Given the description of an element on the screen output the (x, y) to click on. 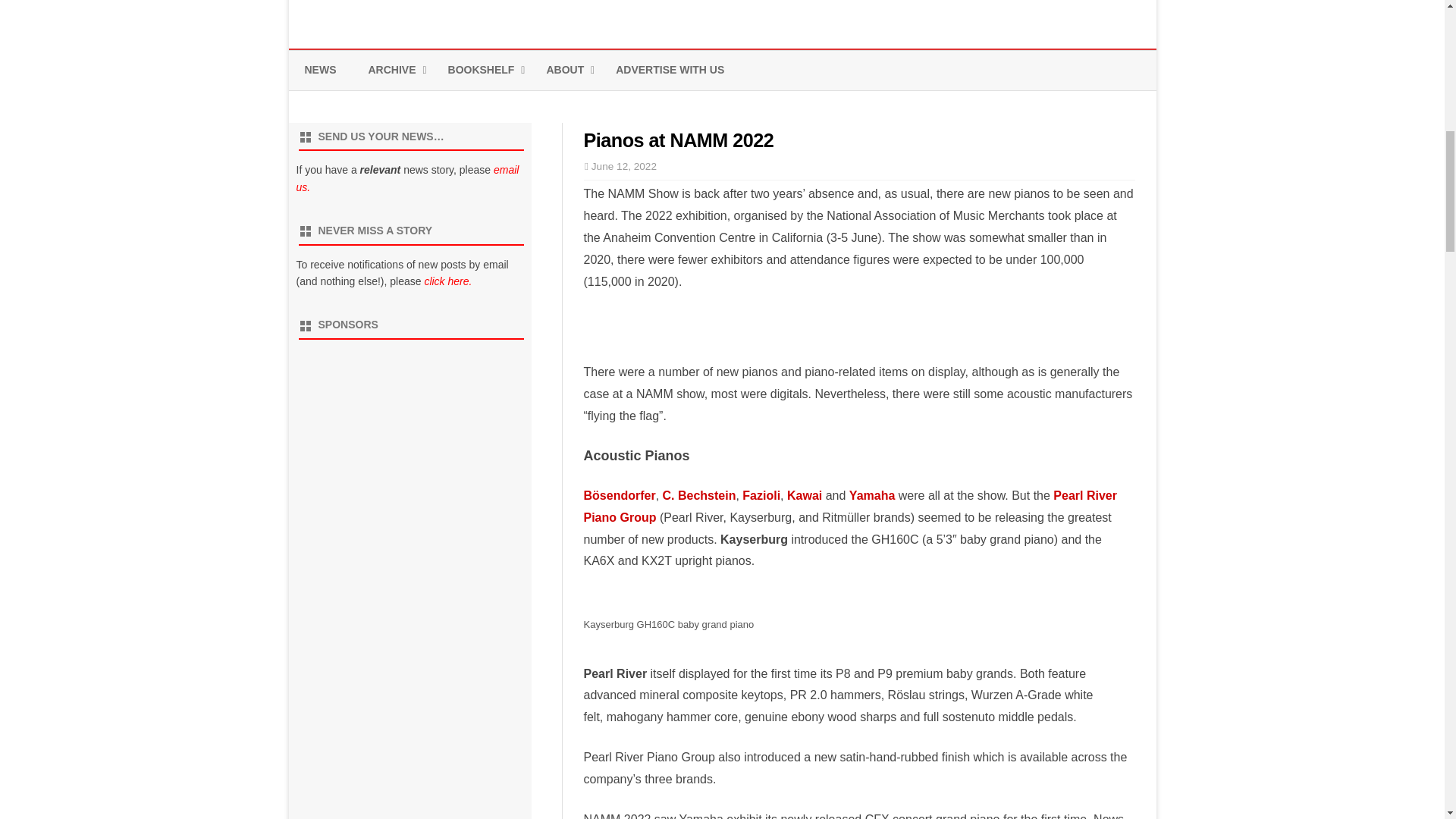
ARCHIVE (392, 70)
THIS WEBSITE (621, 105)
ADVERTISE WITH US (669, 70)
RECOMMENDED PIANO BOOKS (523, 105)
2023 ARTICLES (443, 105)
BOOKSHELF (481, 70)
ABOUT (564, 70)
